Given the description of an element on the screen output the (x, y) to click on. 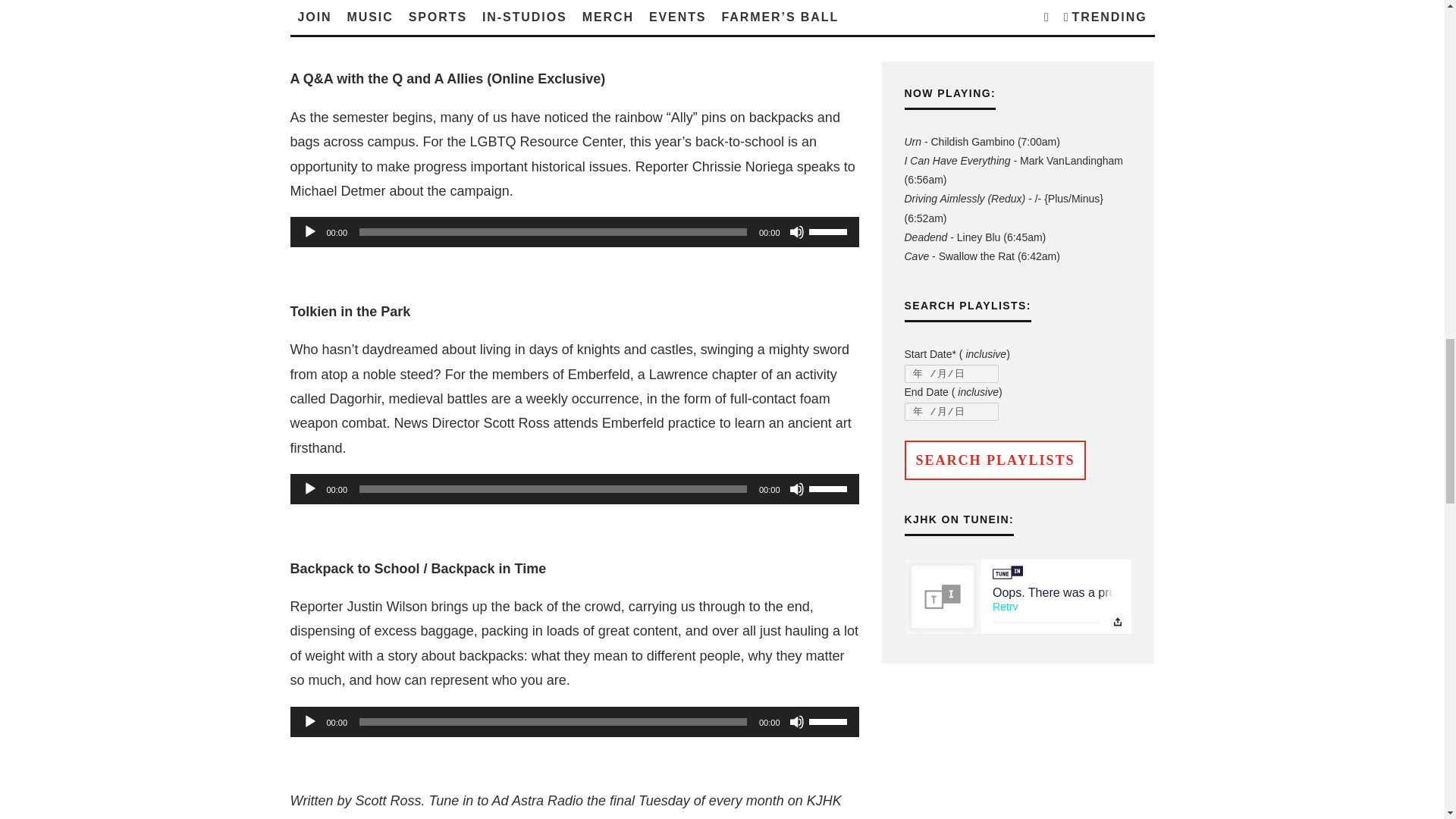
Play (309, 231)
Mute (796, 231)
Mute (796, 3)
Mute (796, 721)
Play (309, 3)
Play (309, 721)
Play (309, 488)
Mute (796, 488)
